Given the description of an element on the screen output the (x, y) to click on. 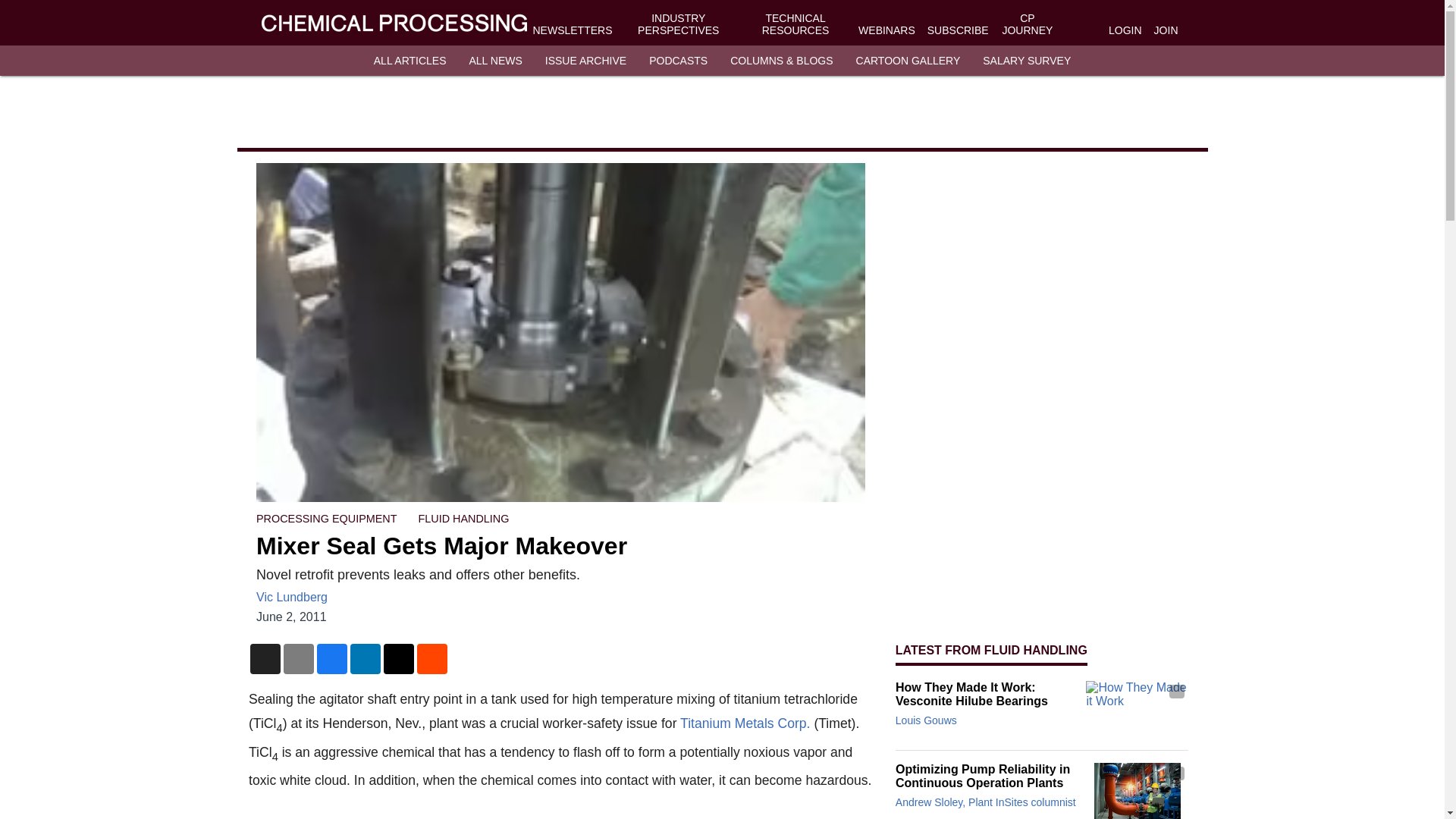
NEWSLETTERS (571, 30)
LOGIN (1124, 30)
TECHNICAL RESOURCES (795, 24)
SALARY SURVEY (1026, 60)
www.timet.com (744, 723)
JOIN (1165, 30)
ALL NEWS (494, 60)
CP JOURNEY (1026, 24)
CARTOON GALLERY (908, 60)
Pump Reliability Service (1137, 790)
